Given the description of an element on the screen output the (x, y) to click on. 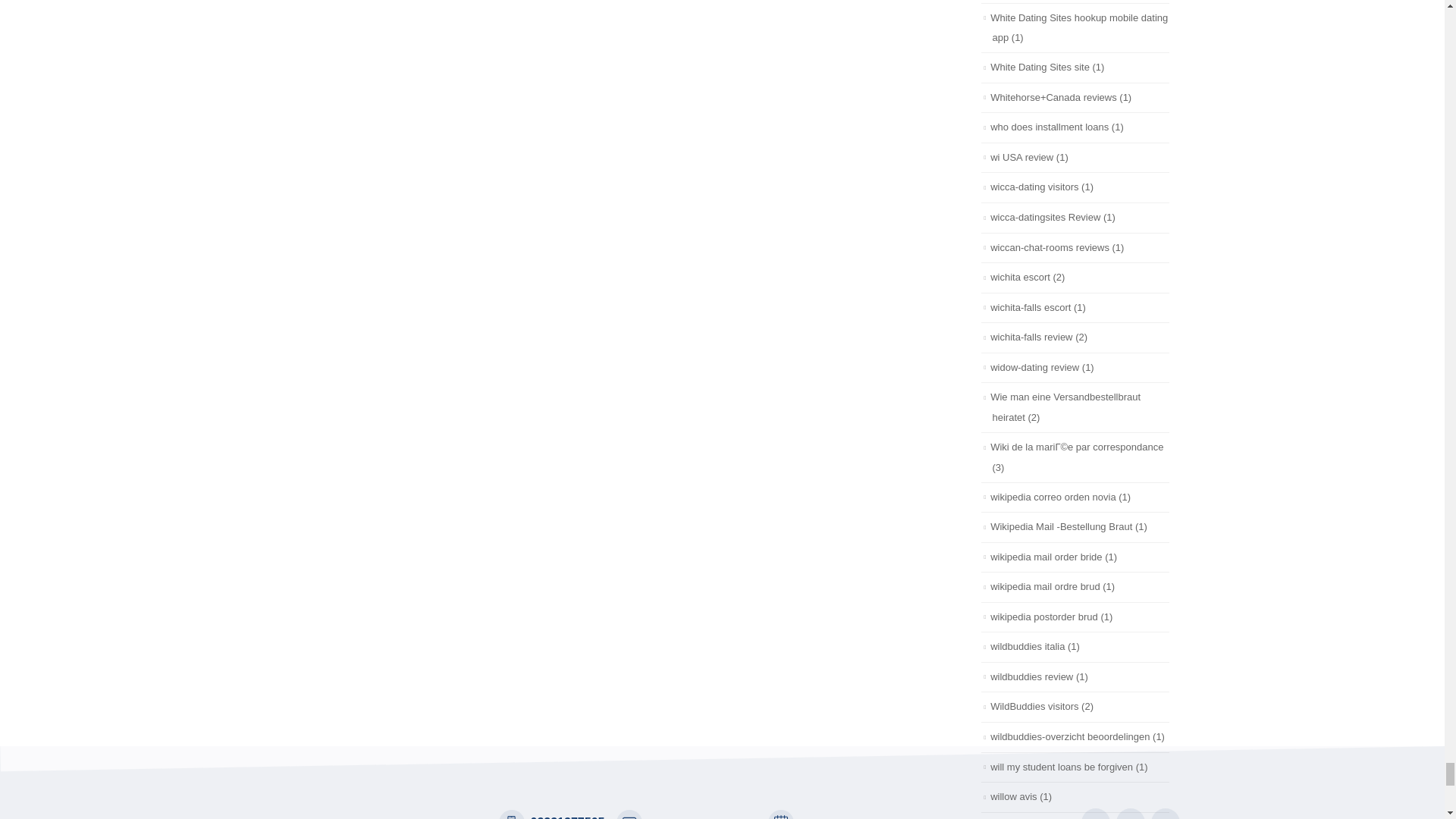
Facebook (1095, 813)
Instagram (1165, 813)
Twitter (1130, 813)
